Given the description of an element on the screen output the (x, y) to click on. 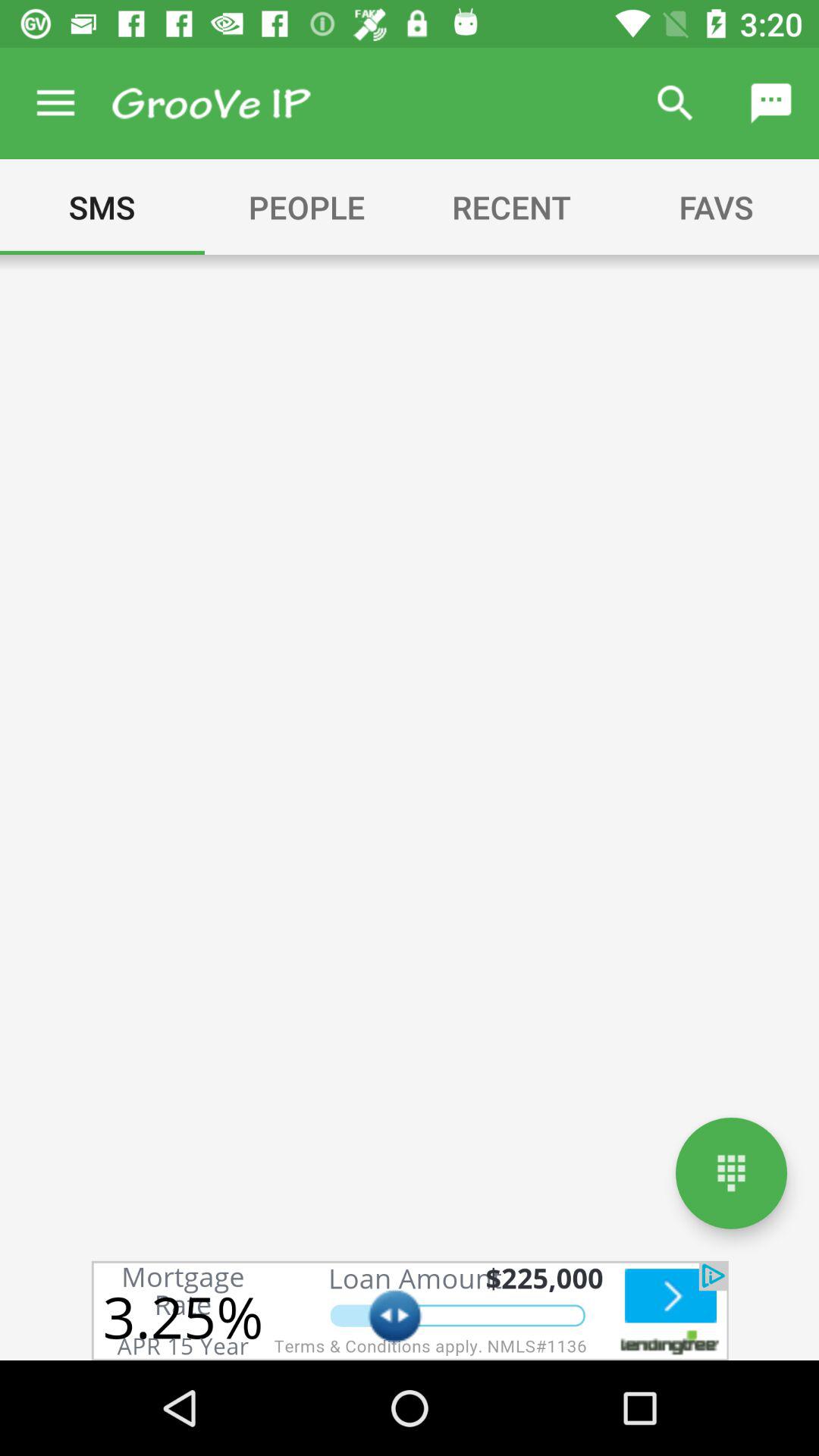
advertisement (409, 1310)
